Given the description of an element on the screen output the (x, y) to click on. 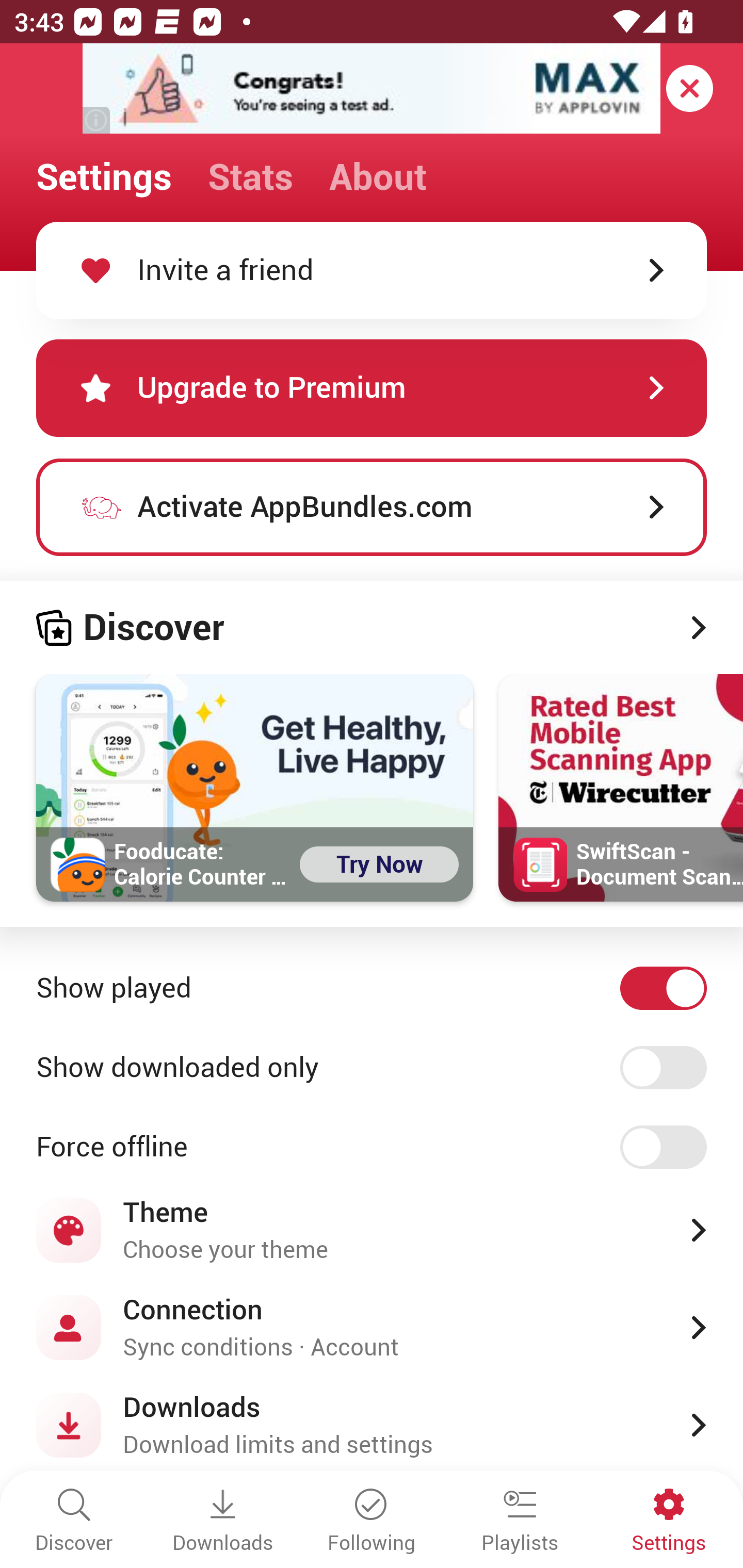
app-monetization (371, 88)
(i) (96, 119)
Settings (103, 177)
Stats (250, 177)
About (377, 177)
Invite a friend (371, 270)
Upgrade to Premium (371, 387)
Activate AppBundles.com (371, 506)
Discover (371, 627)
Fooducate: Calorie Counter & Diet Tracker Try Now (254, 787)
SwiftScan - Document Scanner & PDF Editor (620, 787)
Try Now (378, 864)
Show played (371, 987)
Show downloaded only (371, 1067)
Force offline (371, 1147)
Theme Choose your theme (371, 1229)
Connection Sync conditions · Account (371, 1327)
Downloads Download limits and settings (371, 1425)
Discover (74, 1521)
Downloads (222, 1521)
Following (371, 1521)
Playlists (519, 1521)
Settings (668, 1521)
